Given the description of an element on the screen output the (x, y) to click on. 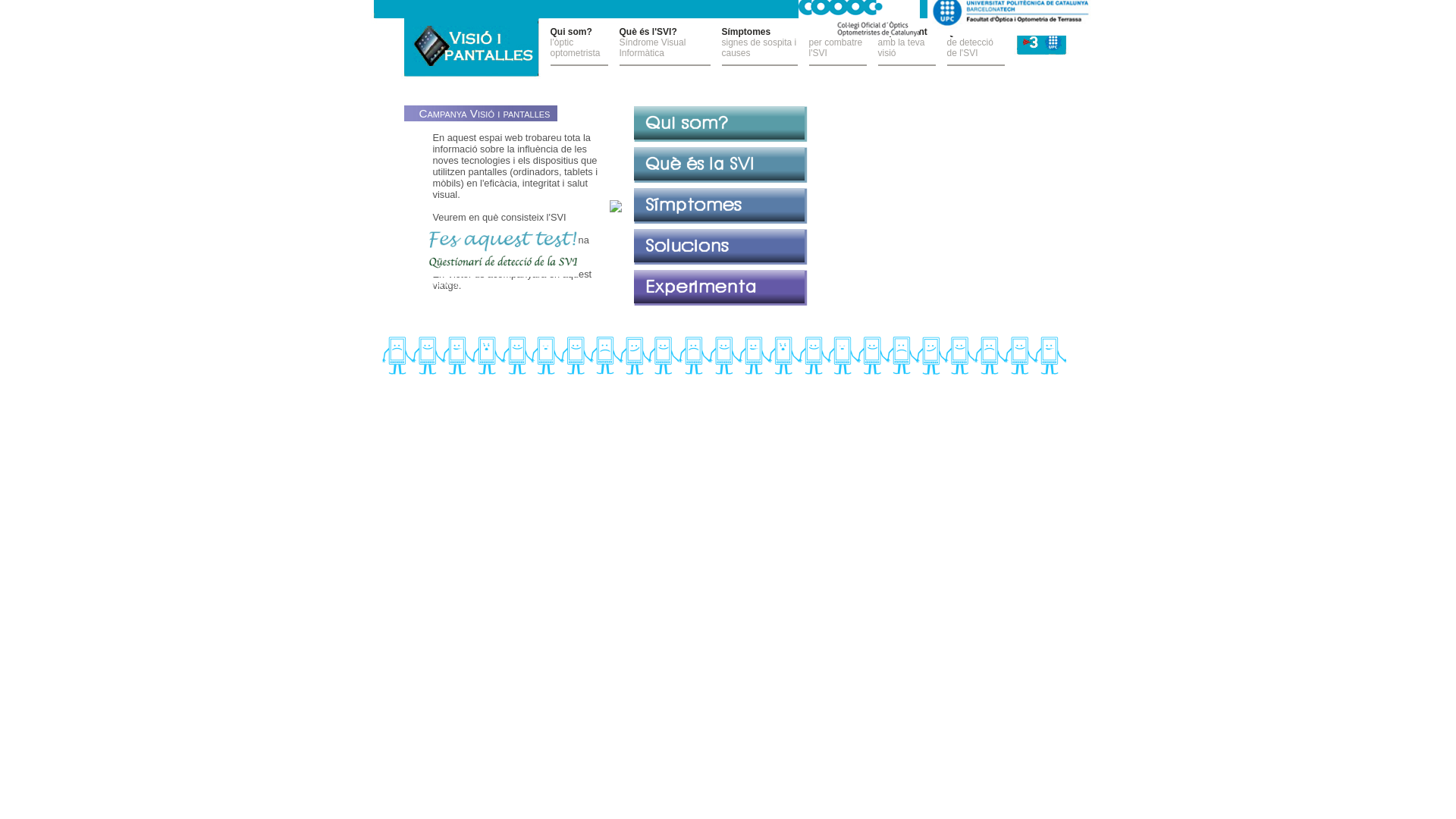
Solucions
per combatre l'SVI Element type: text (837, 45)
